Given the description of an element on the screen output the (x, y) to click on. 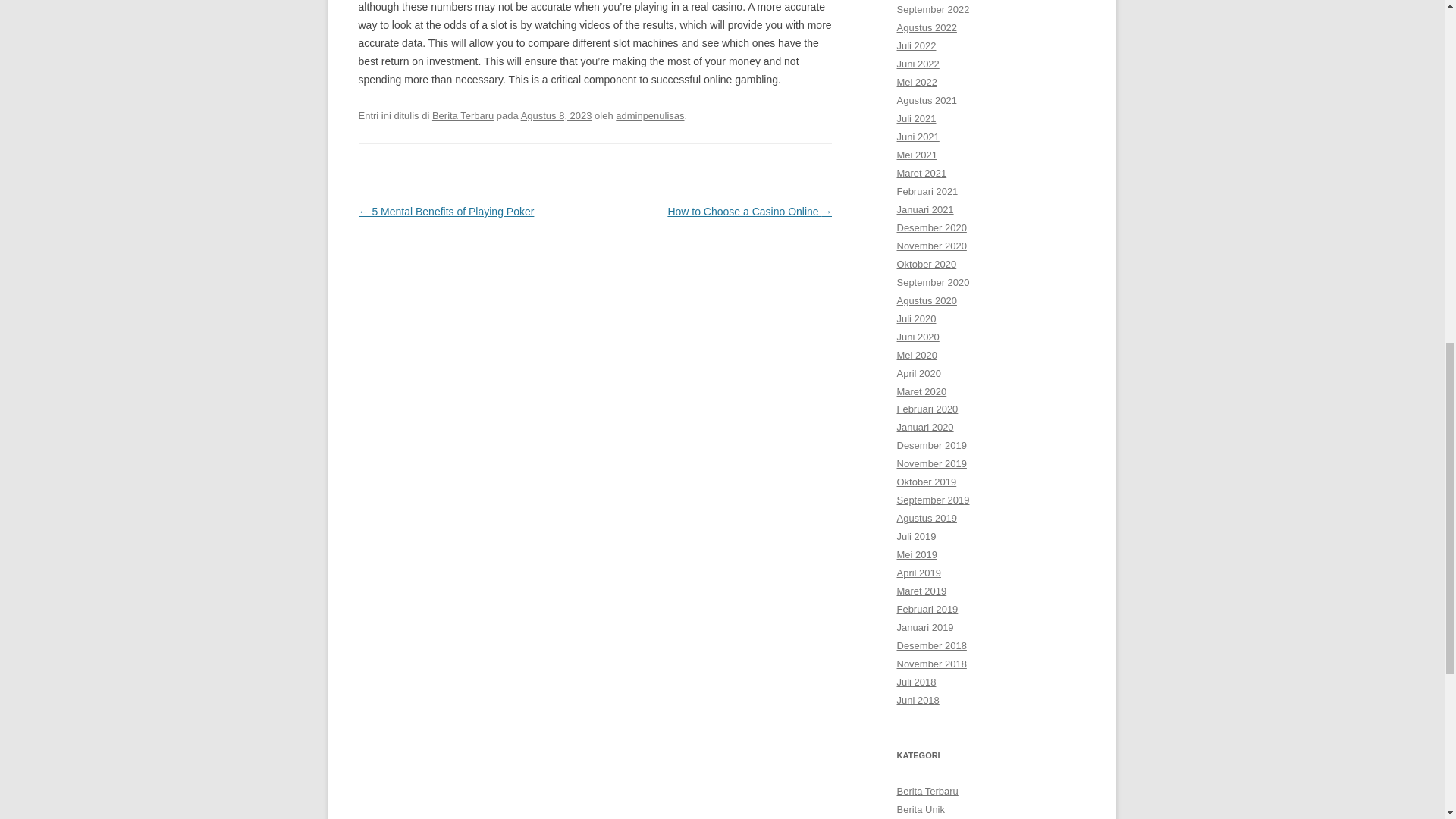
Lihat semua tulisan oleh adminpenulisas (649, 115)
Berita Terbaru (462, 115)
Agustus 8, 2023 (556, 115)
11:19 pm (556, 115)
adminpenulisas (649, 115)
